Given the description of an element on the screen output the (x, y) to click on. 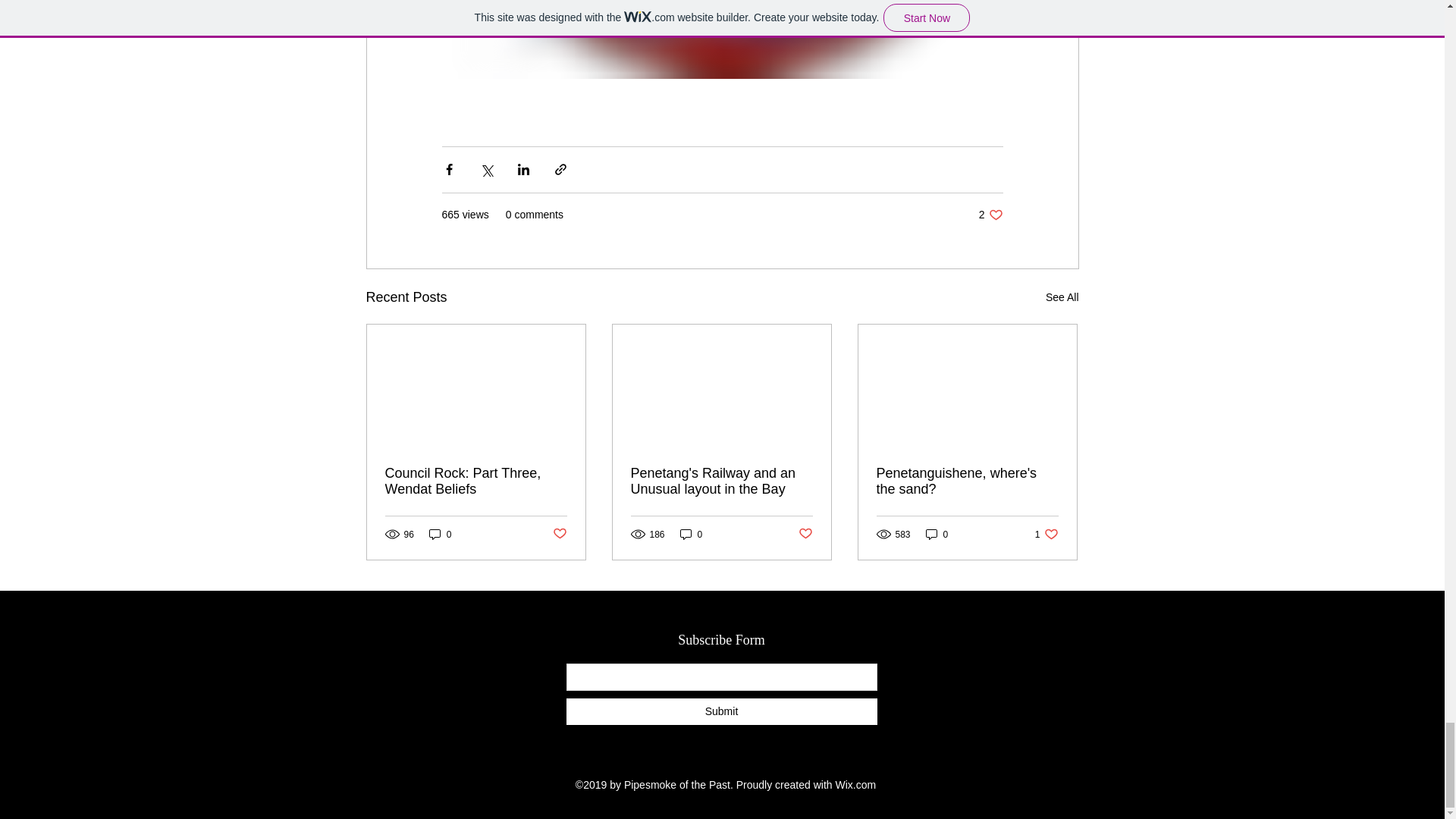
0 (691, 534)
0 (1046, 534)
Council Rock: Part Three, Wendat Beliefs (440, 534)
0 (476, 481)
See All (937, 534)
Penetanguishene, where's the sand? (1061, 297)
Penetang's Railway and an Unusual layout in the Bay (967, 481)
Post not marked as liked (721, 481)
